Given the description of an element on the screen output the (x, y) to click on. 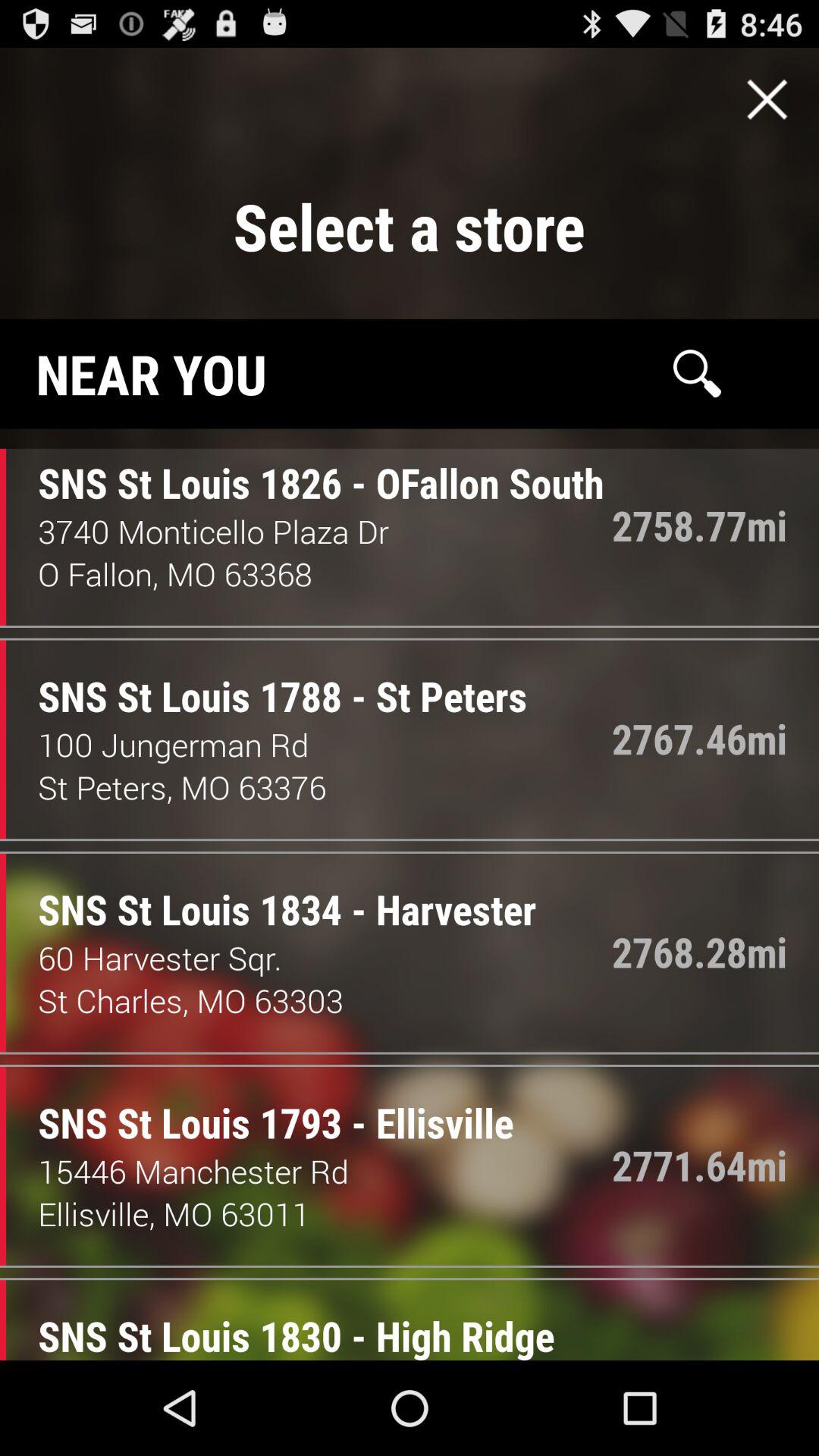
into option (767, 99)
